Given the description of an element on the screen output the (x, y) to click on. 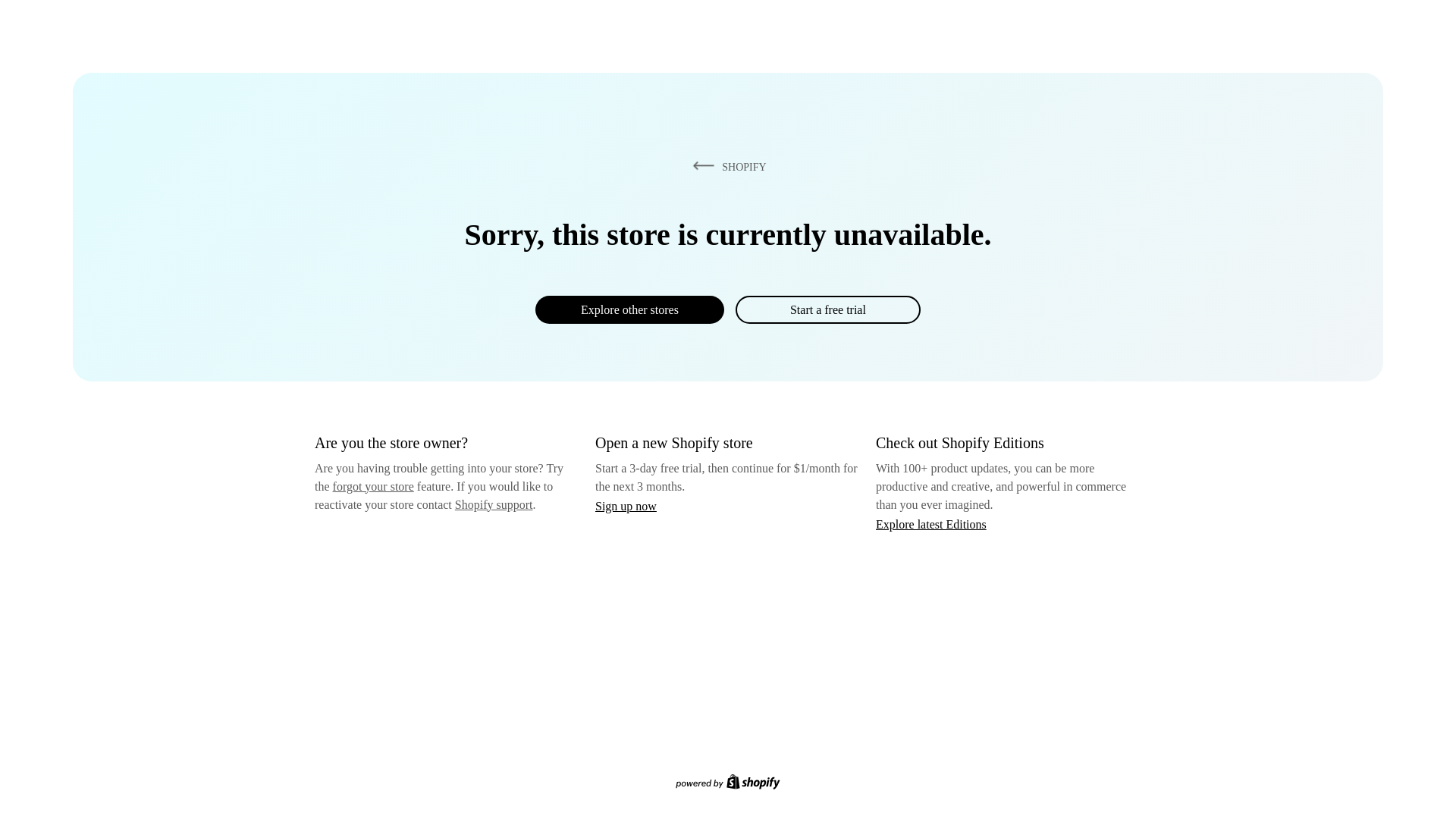
forgot your store (373, 486)
Shopify support (493, 504)
Explore latest Editions (931, 523)
Explore other stores (629, 309)
SHOPIFY (726, 166)
Start a free trial (827, 309)
Sign up now (625, 505)
